Given the description of an element on the screen output the (x, y) to click on. 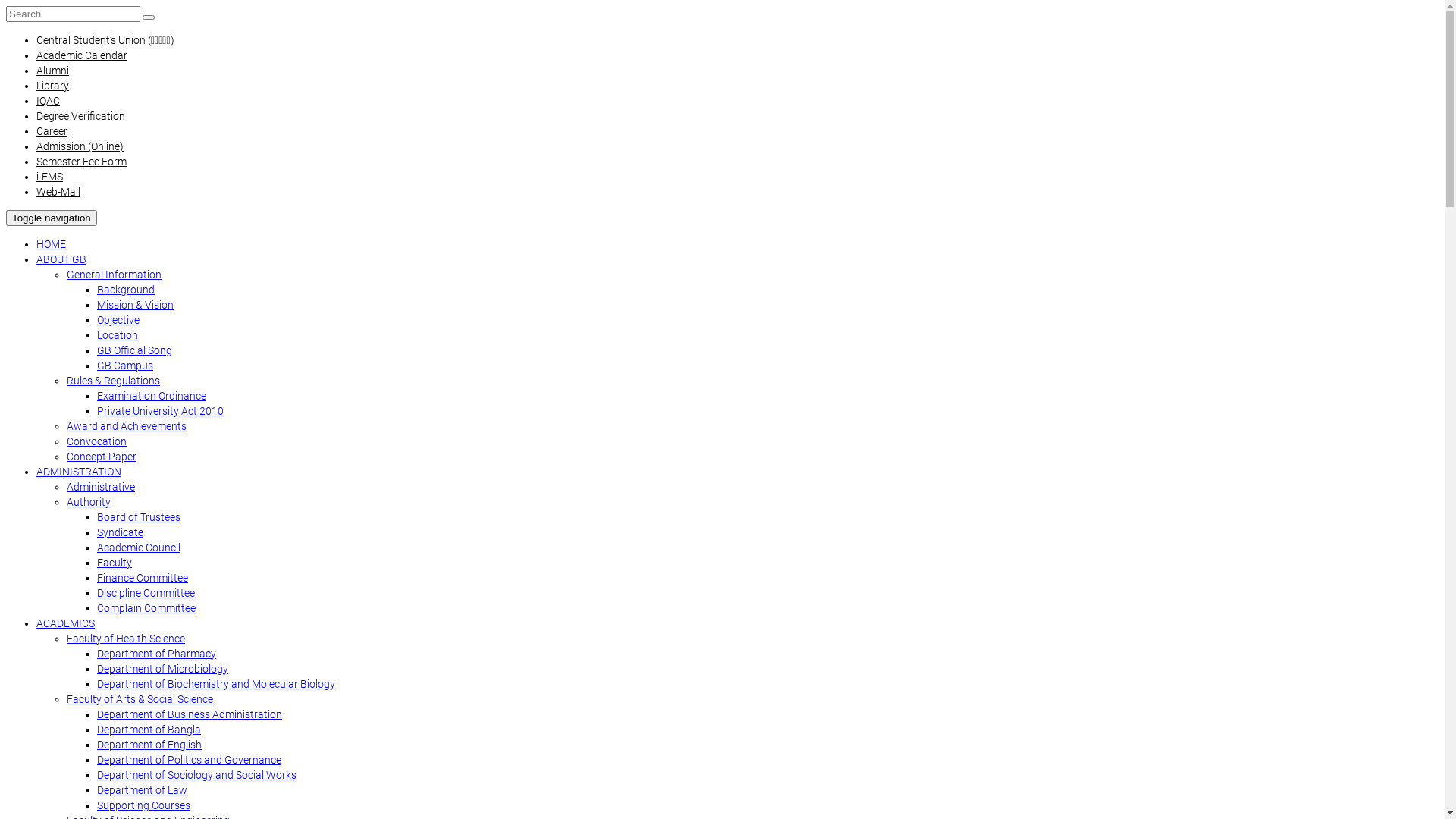
i-EMS Element type: text (49, 176)
Background Element type: text (125, 289)
ACADEMICS Element type: text (65, 623)
Department of Bangla Element type: text (148, 729)
Degree Verification Element type: text (80, 115)
ADMINISTRATION Element type: text (78, 471)
GB Official Song Element type: text (134, 350)
Faculty of Arts & Social Science Element type: text (139, 699)
ABOUT GB Element type: text (61, 259)
Semester Fee Form Element type: text (81, 161)
Department of Biochemistry and Molecular Biology Element type: text (216, 683)
Supporting Courses Element type: text (143, 805)
General Information Element type: text (113, 274)
Web-Mail Element type: text (58, 191)
Department of Microbiology Element type: text (162, 668)
Syndicate Element type: text (120, 532)
Department of Pharmacy Element type: text (156, 653)
Department of English Element type: text (149, 744)
Library Element type: text (52, 85)
IQAC Element type: text (47, 100)
Admission (Online) Element type: text (79, 146)
HOME Element type: text (50, 244)
Faculty of Health Science Element type: text (125, 638)
GB Campus Element type: text (125, 365)
Department of Law Element type: text (142, 790)
Alumni Element type: text (52, 70)
Department of Sociology and Social Works Element type: text (196, 774)
Administrative Element type: text (100, 486)
Private University Act 2010 Element type: text (160, 410)
Finance Committee Element type: text (142, 577)
Authority Element type: text (88, 501)
Complain Committee Element type: text (146, 608)
Faculty Element type: text (114, 562)
Department of Business Administration Element type: text (189, 714)
Mission & Vision Element type: text (135, 304)
Career Element type: text (51, 131)
Toggle navigation Element type: text (51, 217)
Award and Achievements Element type: text (126, 426)
Convocation Element type: text (96, 441)
Academic Calendar Element type: text (81, 55)
Objective Element type: text (118, 319)
Examination Ordinance Element type: text (151, 395)
Discipline Committee Element type: text (145, 592)
Location Element type: text (117, 335)
Board of Trustees Element type: text (138, 517)
Academic Council Element type: text (138, 547)
Concept Paper Element type: text (101, 456)
Rules & Regulations Element type: text (113, 380)
Department of Politics and Governance Element type: text (189, 759)
